Given the description of an element on the screen output the (x, y) to click on. 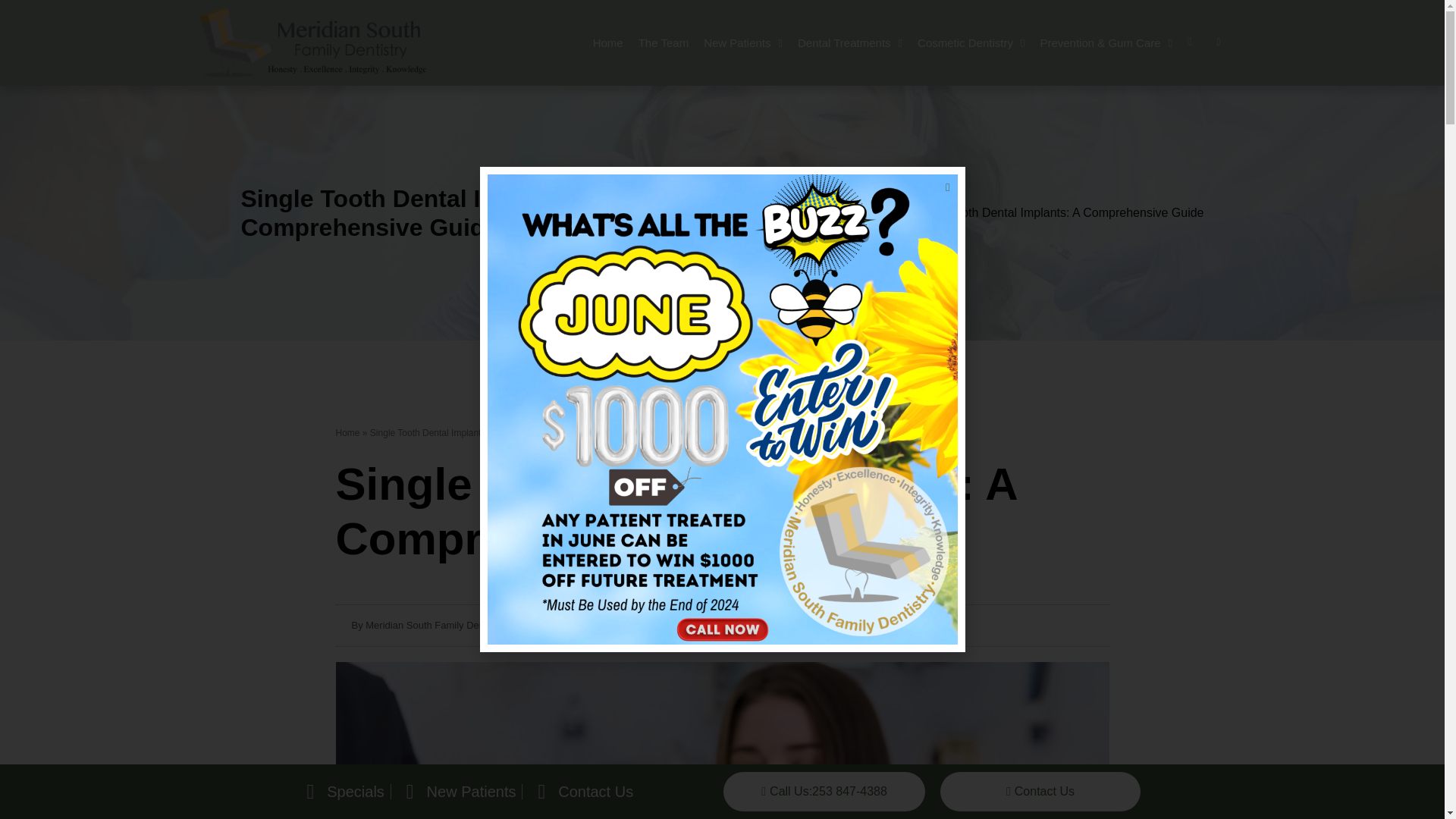
New Patients (1346, 42)
Dental Treatments (1301, 42)
Home (1265, 42)
Cosmetic Dentistry (1164, 42)
The Team (1286, 42)
